Given the description of an element on the screen output the (x, y) to click on. 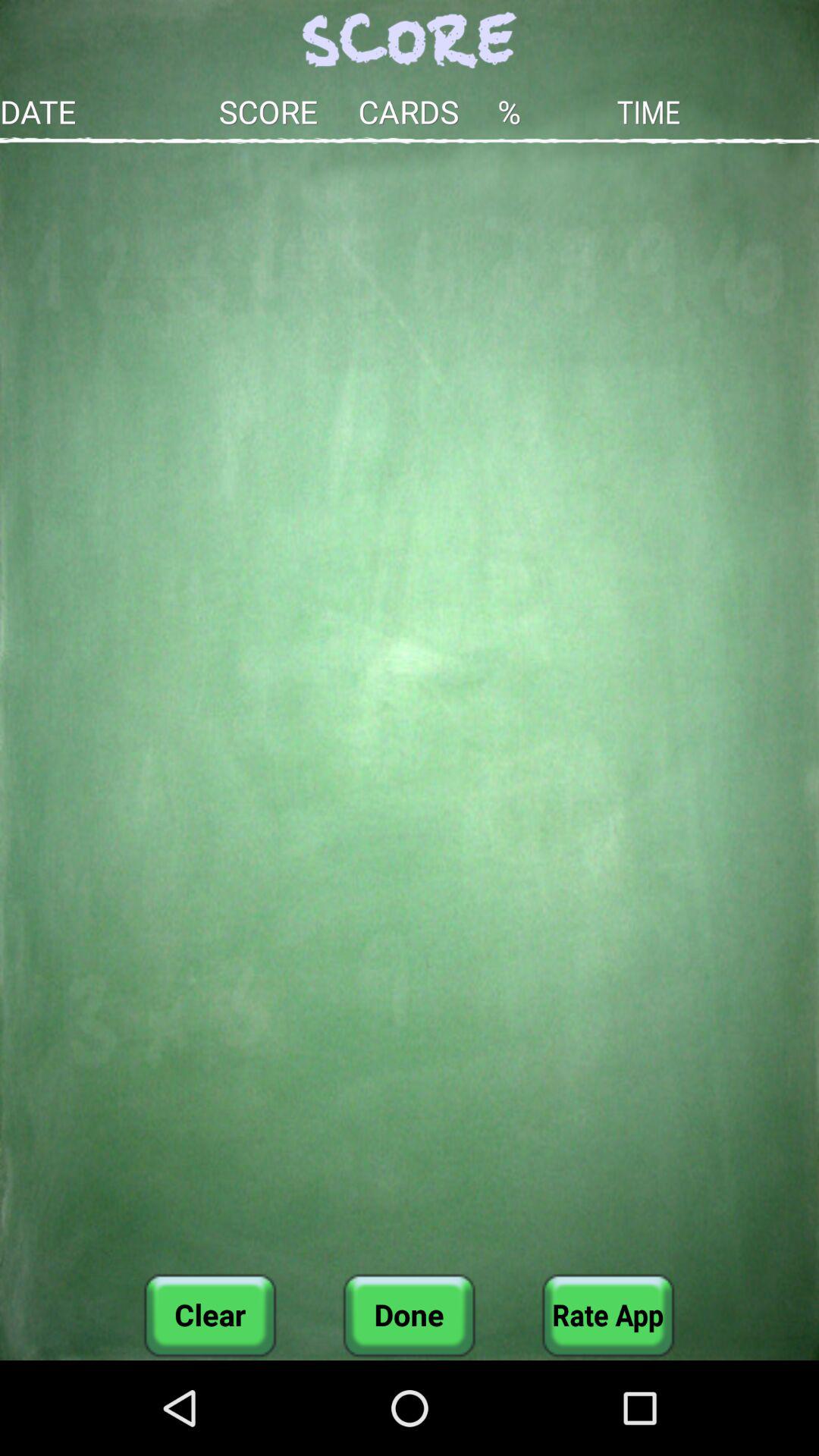
tap item next to clear (408, 1315)
